Given the description of an element on the screen output the (x, y) to click on. 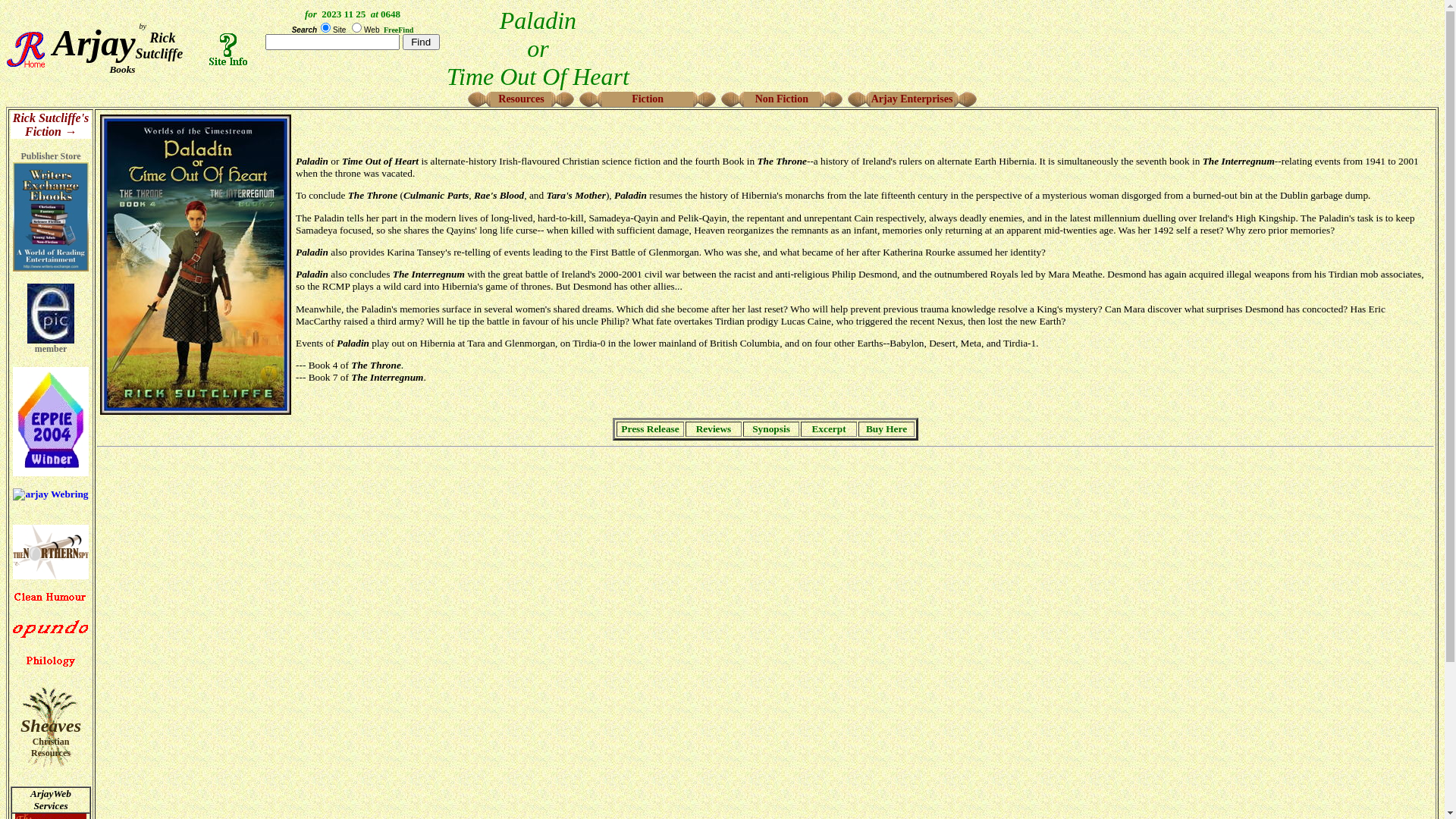
Buy Here Element type: text (886, 428)
Non Fiction Element type: text (781, 98)
Arjay Enterprises Element type: text (912, 98)
Sheaves Element type: text (50, 735)
Fiction Element type: text (647, 98)
Christian Resources Element type: text (56, 752)
Publisher Store Element type: text (50, 184)
Excerpt Element type: text (828, 428)
ArjayWeb Services Element type: text (50, 799)
Click for Home Page Element type: hover (25, 48)
FreeFind Element type: text (398, 29)
Reviews Element type: text (713, 428)
Synopsis Element type: text (771, 428)
member Element type: text (50, 329)
Press Release Element type: text (649, 428)
